Given the description of an element on the screen output the (x, y) to click on. 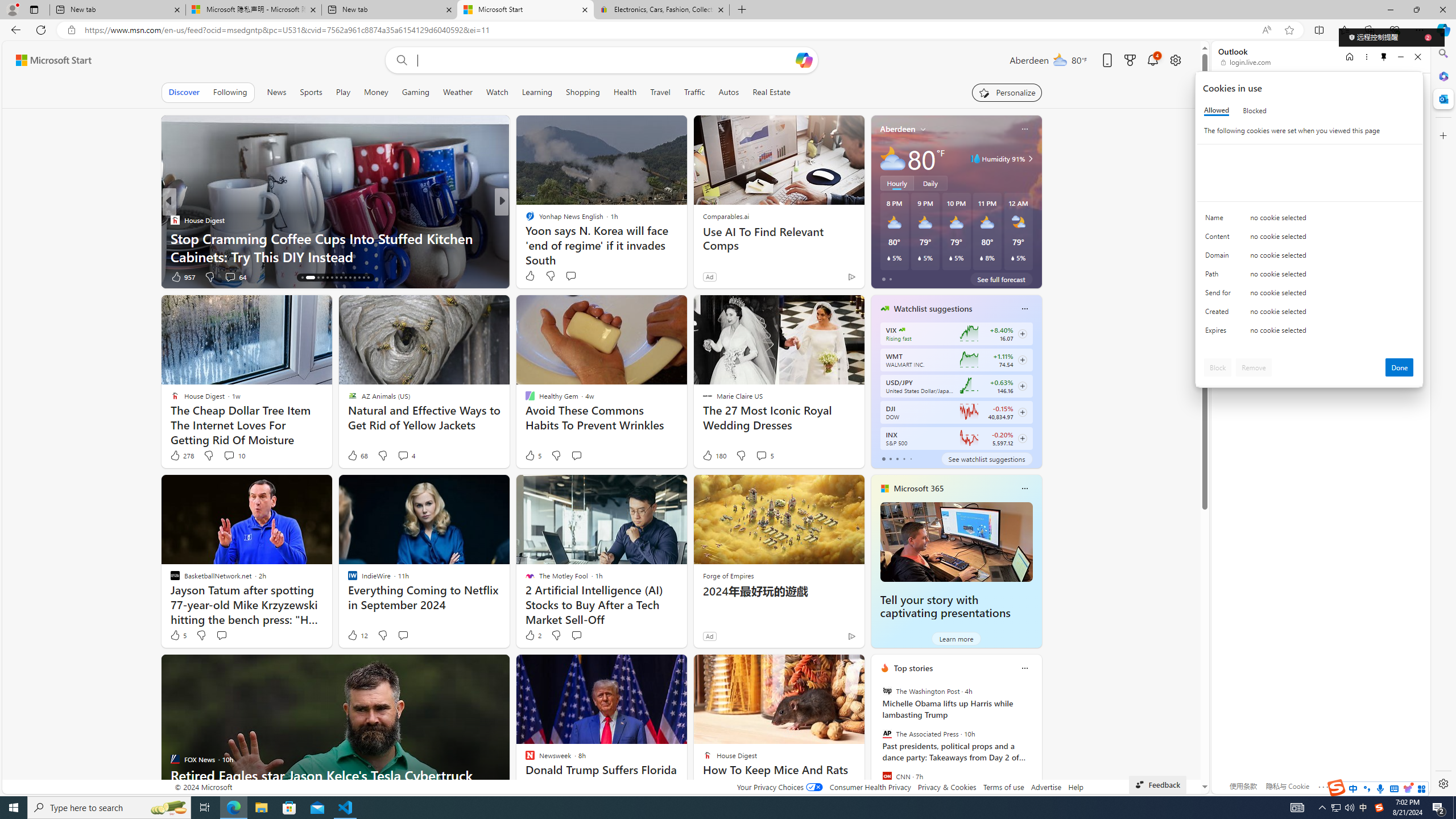
180 Like (713, 455)
AutomationID: tab-27 (363, 277)
Always Pets (524, 219)
97 Like (530, 276)
View comments 141 Comment (587, 276)
